Given the description of an element on the screen output the (x, y) to click on. 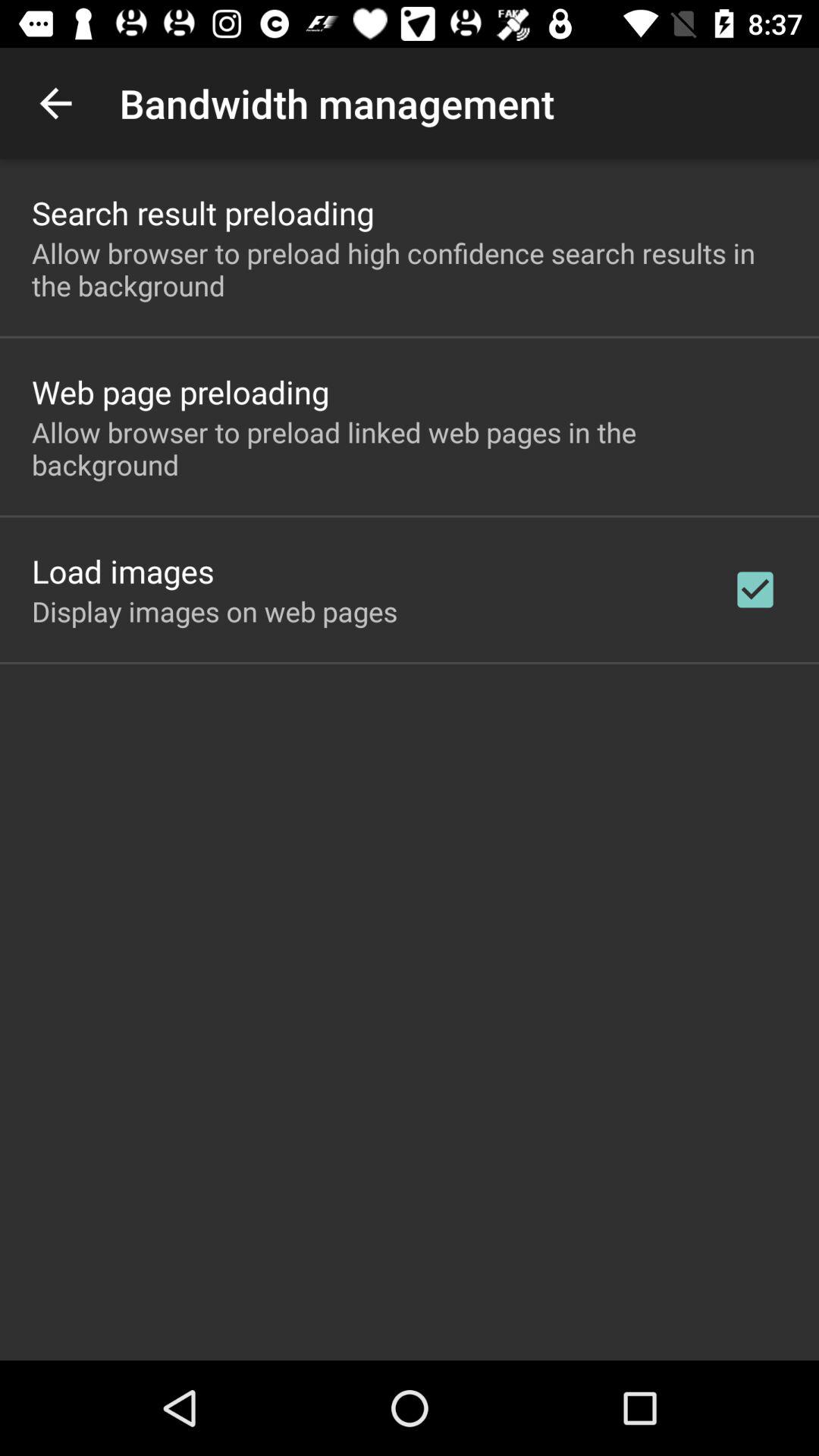
turn on app above the display images on app (122, 570)
